Given the description of an element on the screen output the (x, y) to click on. 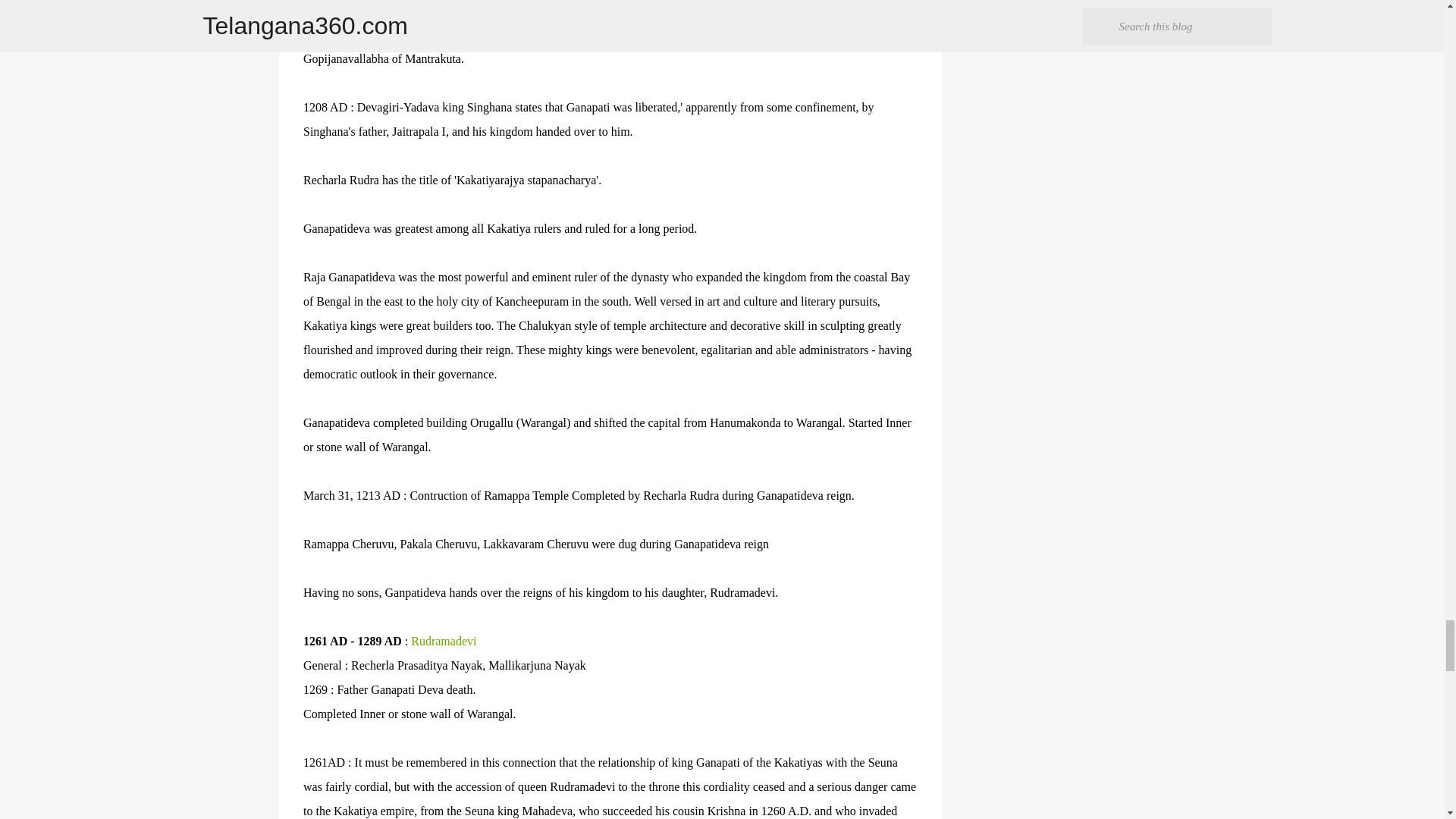
Rudramadevi (443, 640)
